Given the description of an element on the screen output the (x, y) to click on. 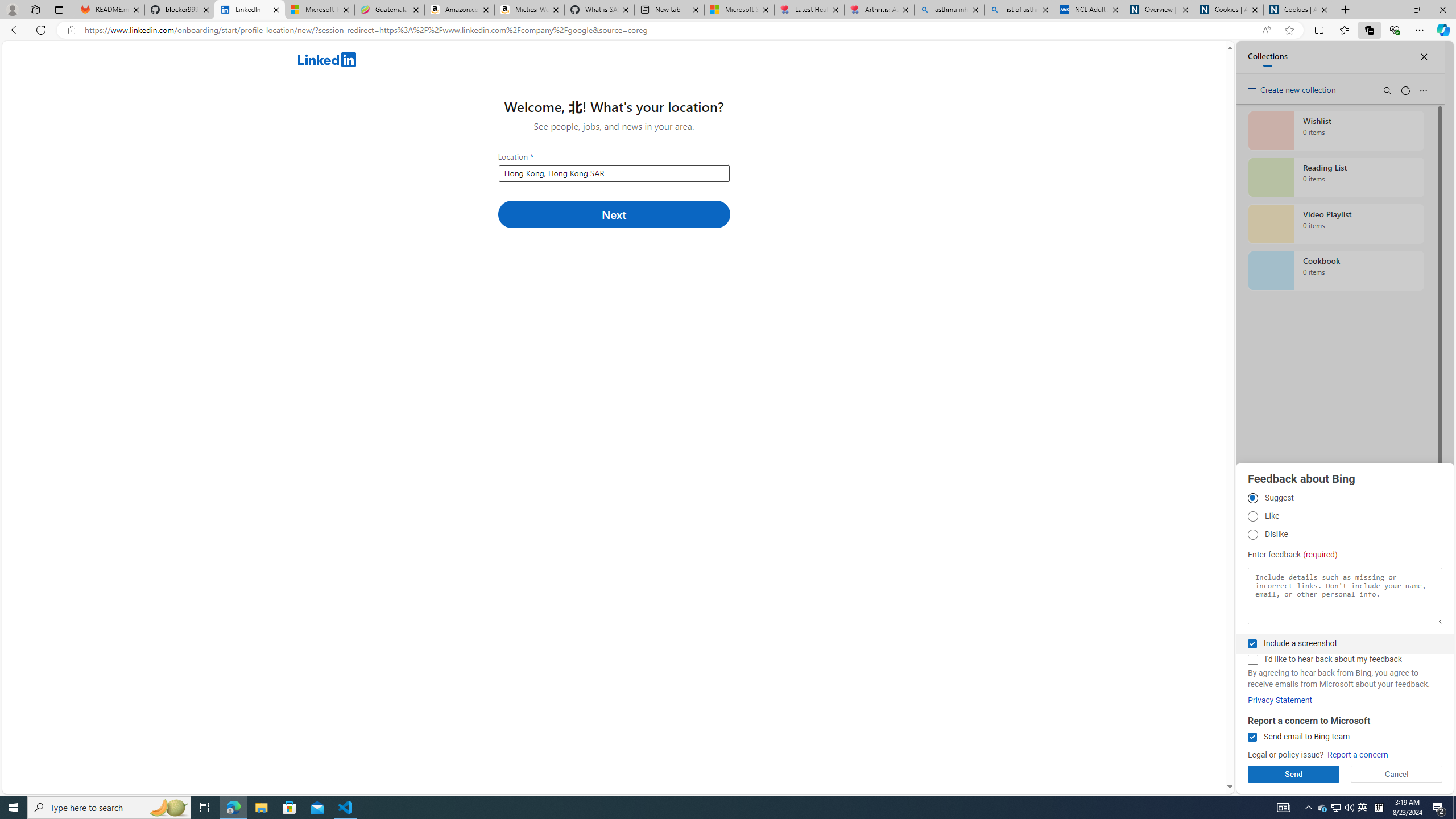
Cancel (1396, 773)
Include a screenshot (1251, 643)
I'd like to hear back about my feedback (1252, 659)
Send (1293, 773)
